Given the description of an element on the screen output the (x, y) to click on. 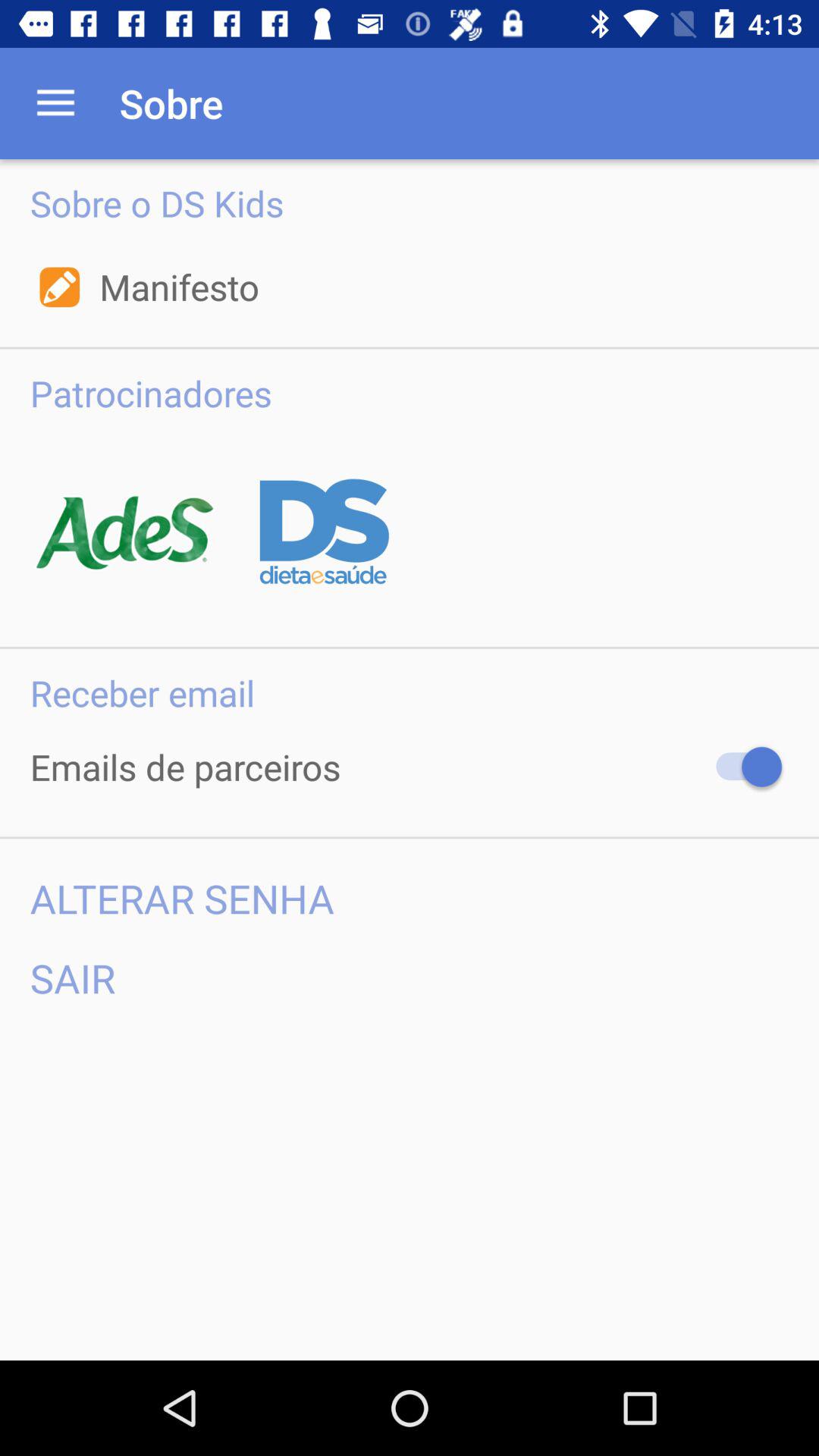
press the icon next to the sobre icon (55, 103)
